Given the description of an element on the screen output the (x, y) to click on. 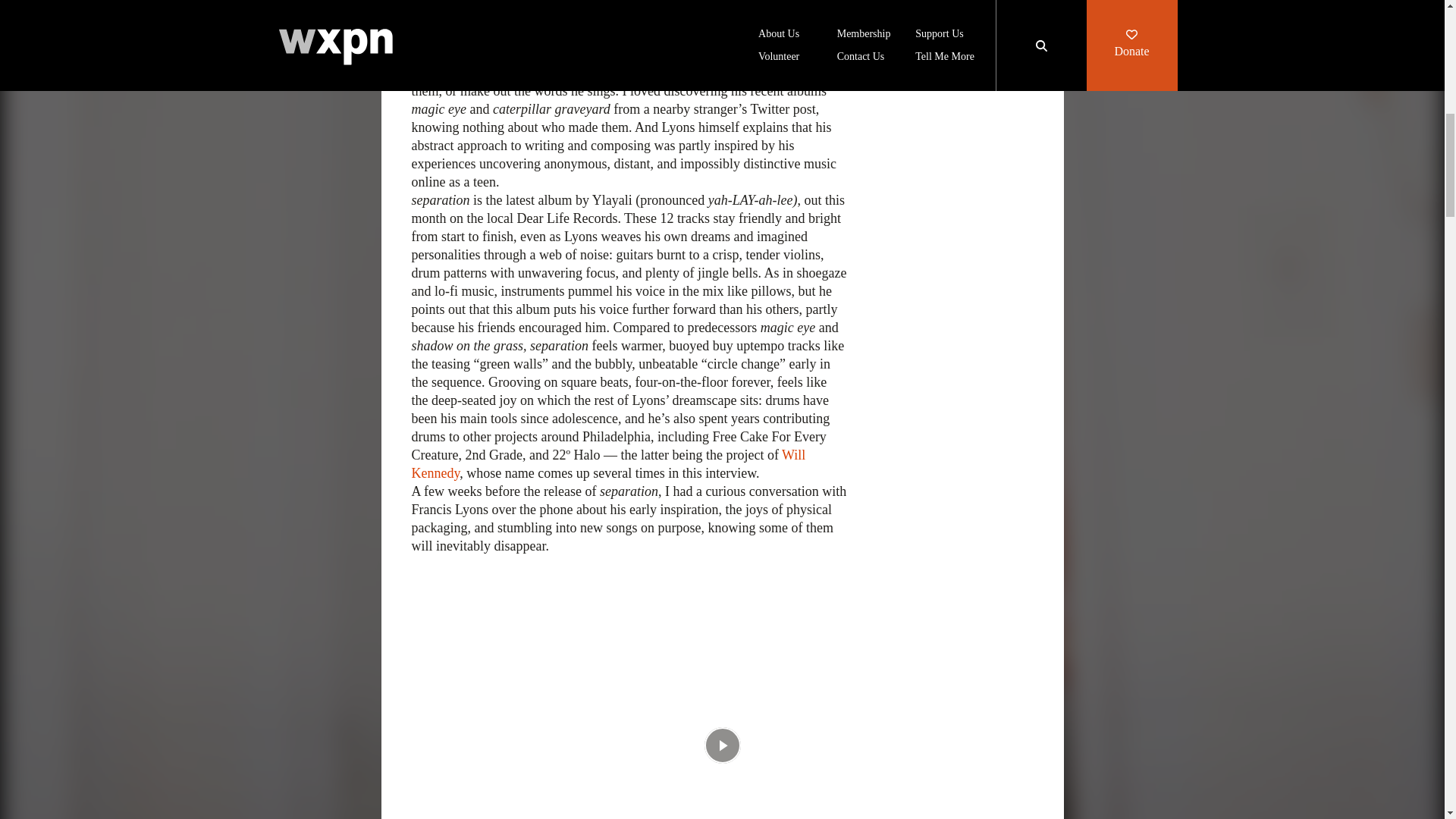
Will Kennedy (607, 463)
